Given the description of an element on the screen output the (x, y) to click on. 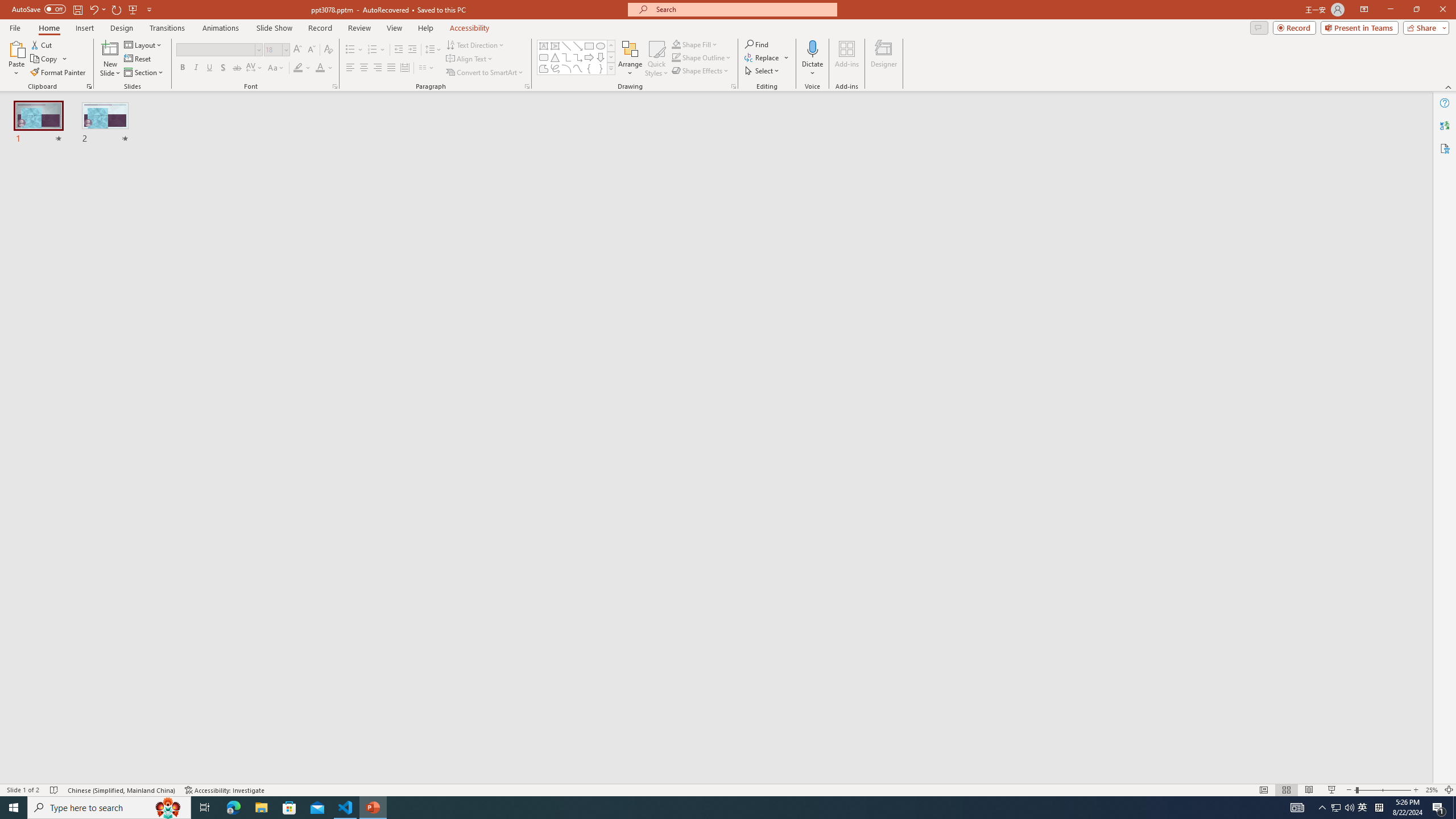
Zoom 25% (1431, 790)
